Given the description of an element on the screen output the (x, y) to click on. 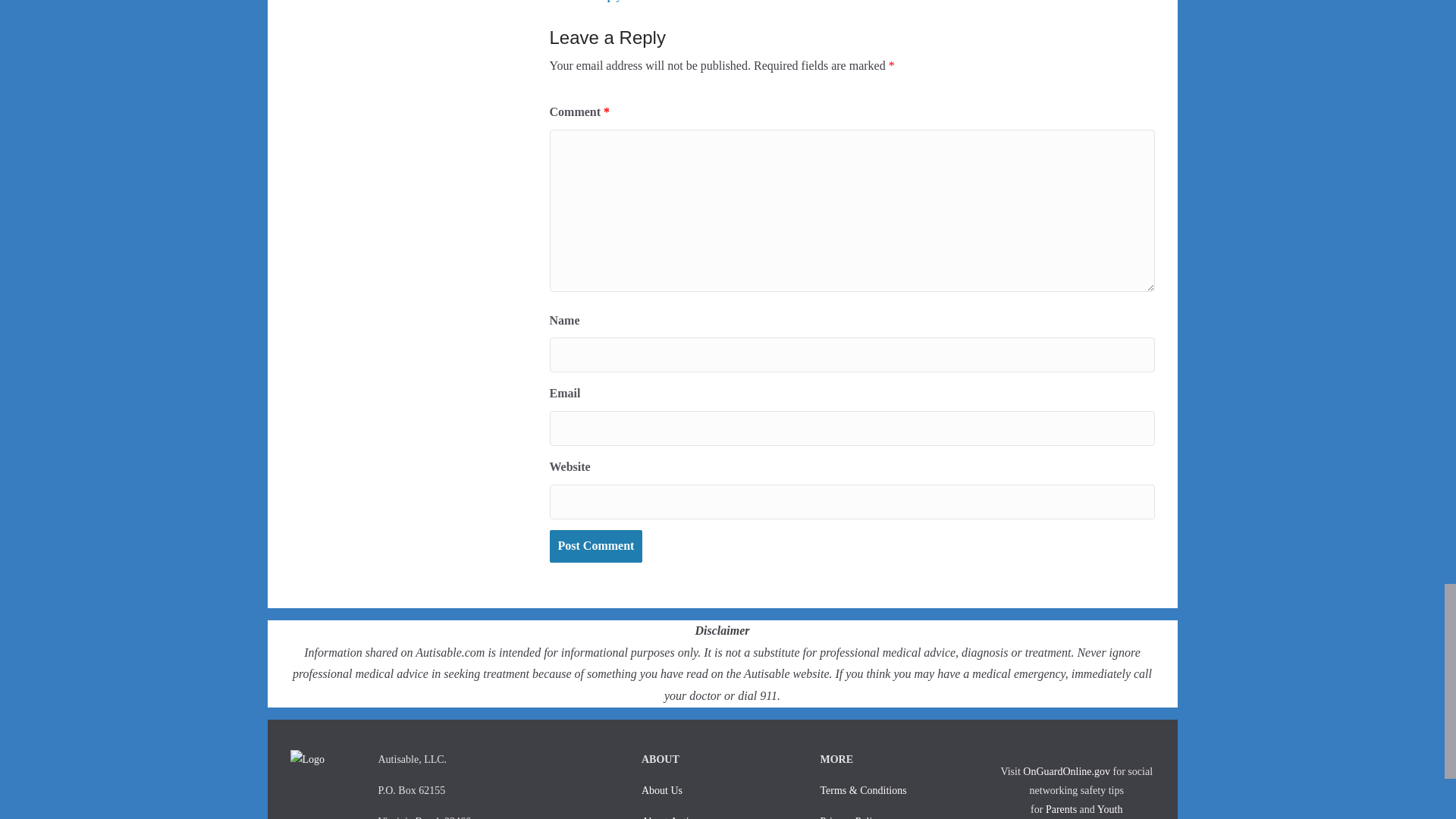
Post Comment (595, 545)
